Given the description of an element on the screen output the (x, y) to click on. 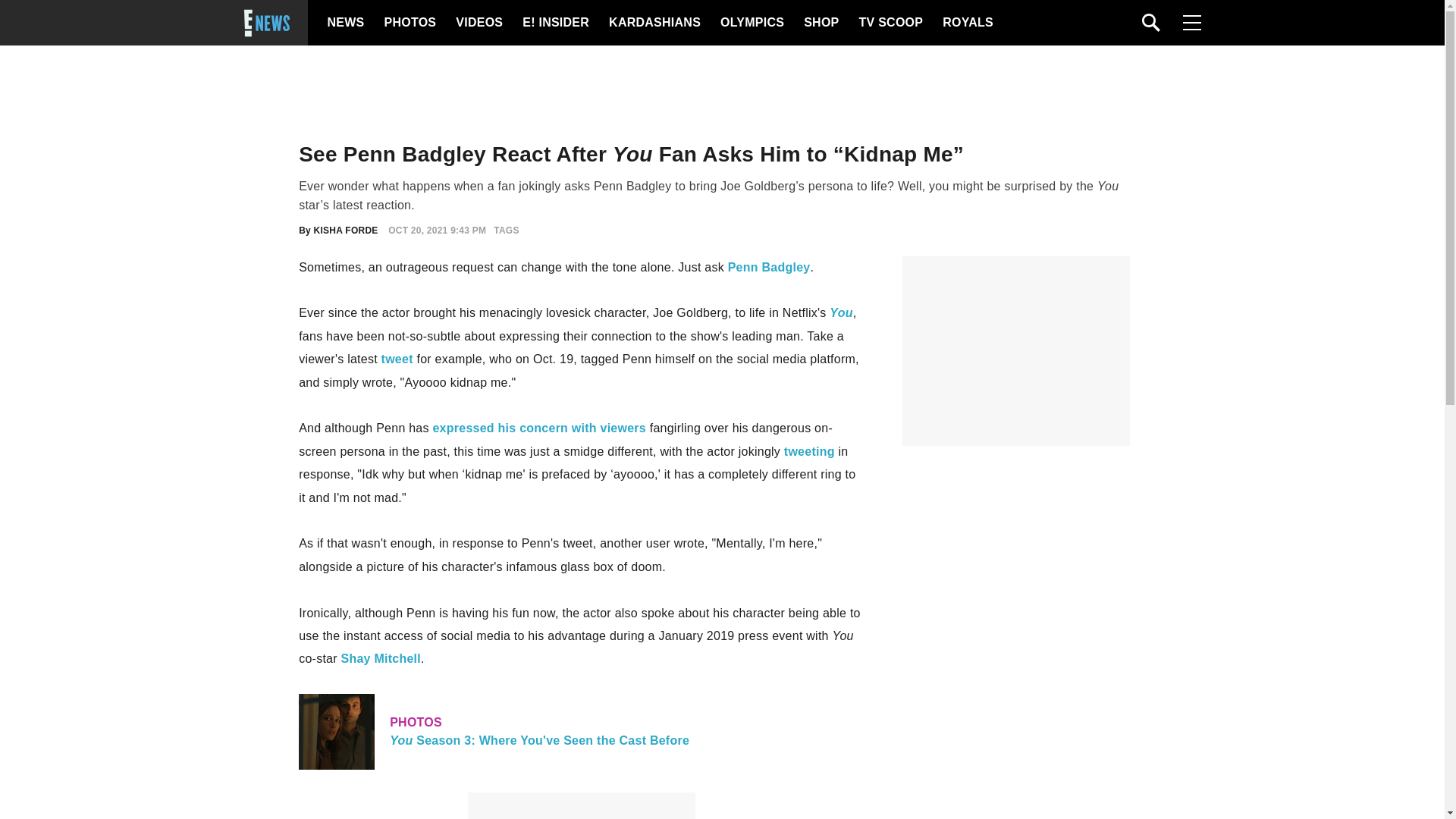
NEWS (345, 22)
SHOP (581, 731)
VIDEOS (820, 22)
TV SCOOP (478, 22)
E! INSIDER (890, 22)
Penn Badgley (555, 22)
Shay Mitchell (769, 267)
tweet (381, 658)
You (397, 358)
